Given the description of an element on the screen output the (x, y) to click on. 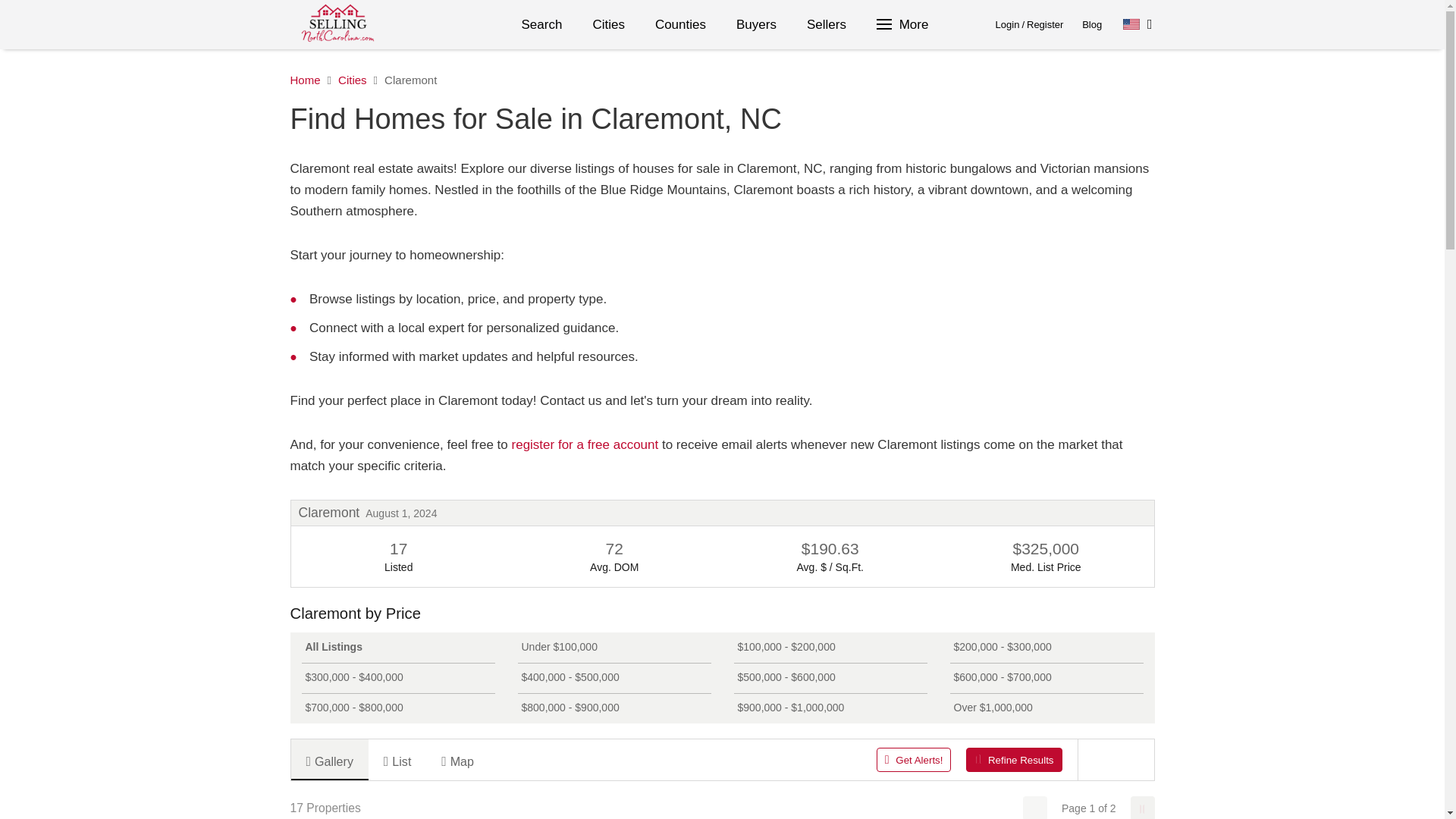
Email Listing Alerts (585, 444)
Search (542, 24)
Select Language (1137, 24)
Counties (680, 24)
Cities (608, 24)
